Given the description of an element on the screen output the (x, y) to click on. 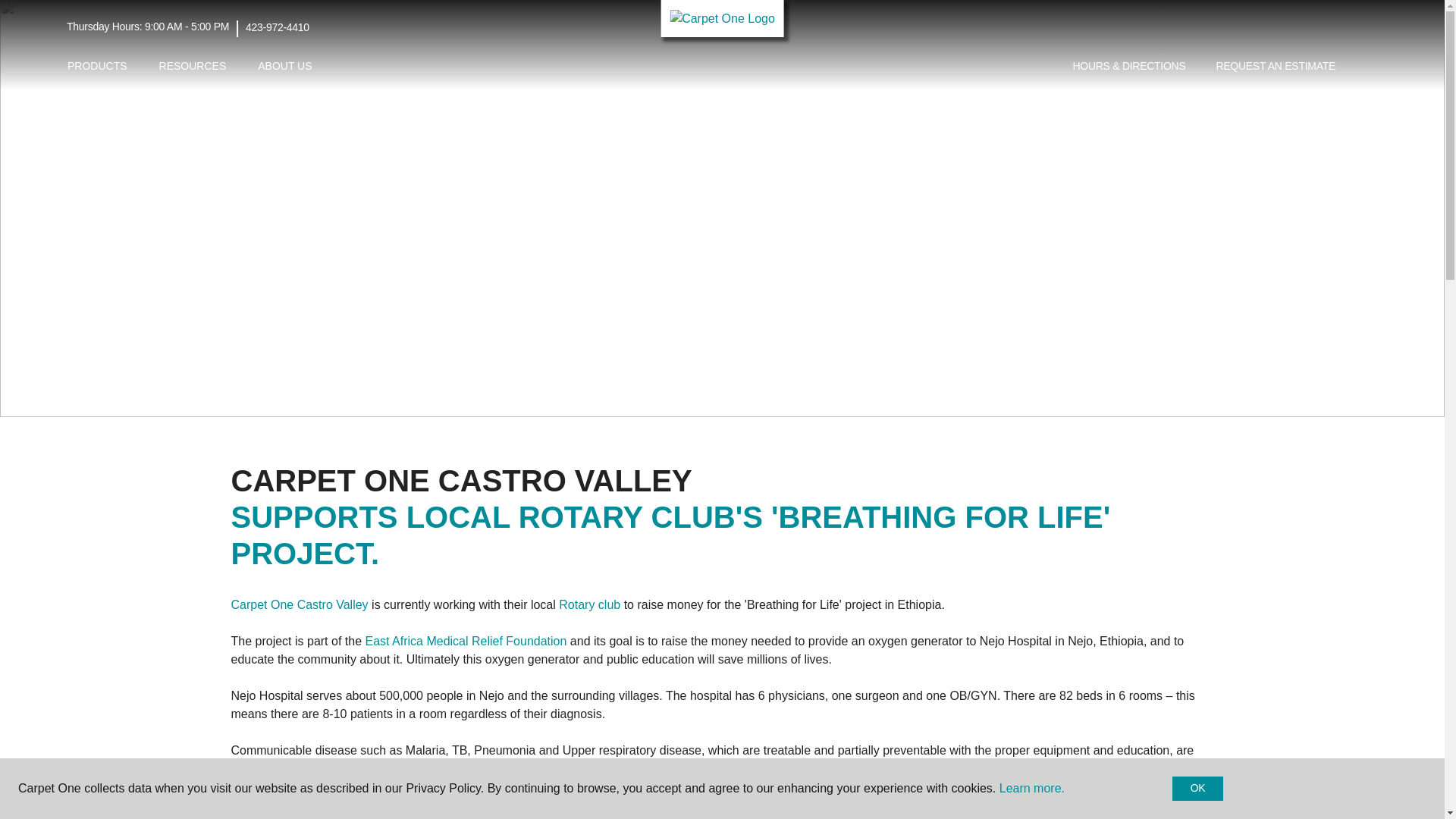
REQUEST AN ESTIMATE (1276, 66)
RESOURCES (193, 66)
ABOUT US (284, 66)
423-972-4410 (277, 27)
PRODUCTS (97, 66)
